Given the description of an element on the screen output the (x, y) to click on. 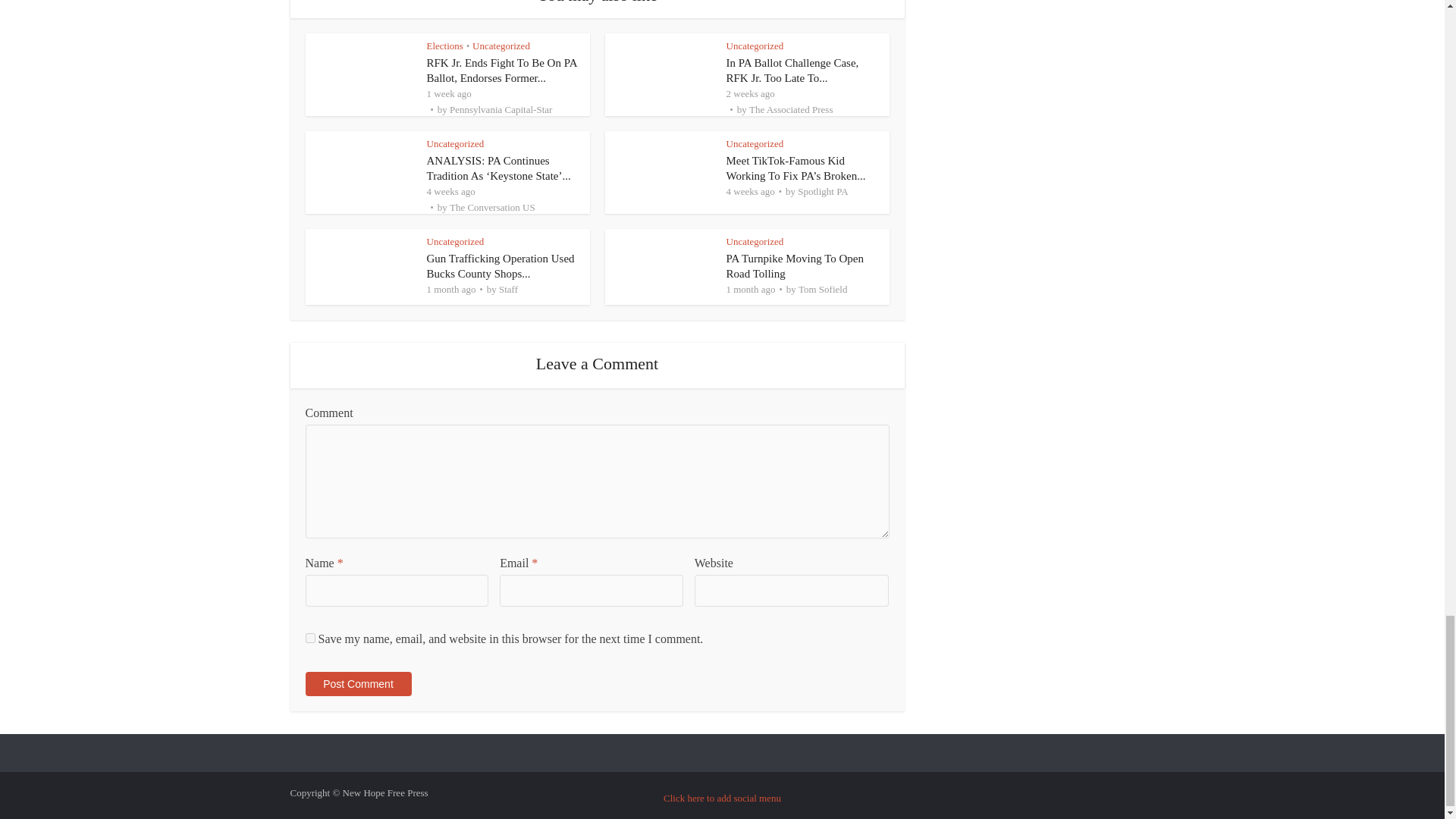
In PA Ballot Challenge Case, RFK Jr. Too Late To Testify (792, 70)
Pennsylvania Capital-Star (500, 109)
Post Comment (357, 683)
yes (309, 637)
RFK Jr. Ends Fight To Be On PA Ballot, Endorses Former... (501, 70)
PA Turnpike Moving To Open Road Tolling (795, 266)
The Associated Press (790, 109)
The Conversation US (492, 206)
